Given the description of an element on the screen output the (x, y) to click on. 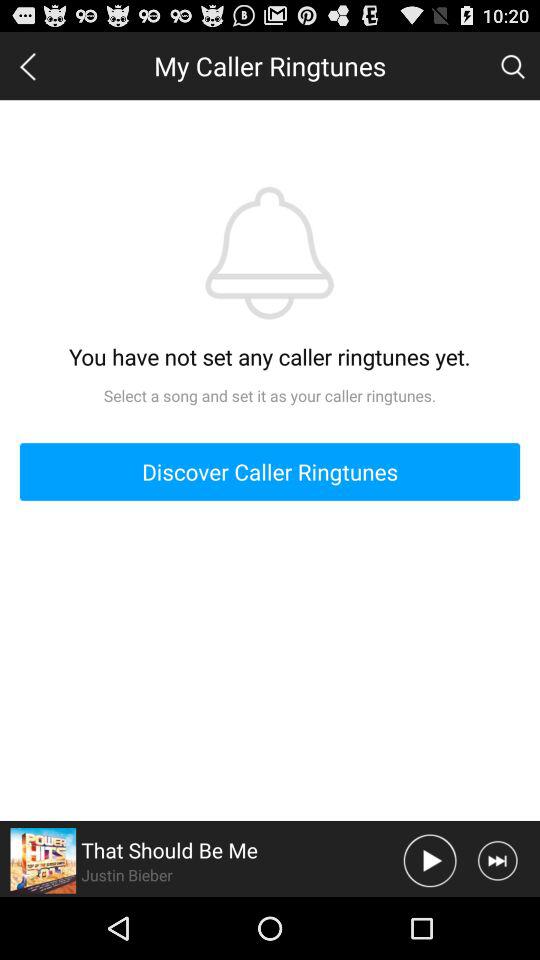
toggle play audio (429, 860)
